Given the description of an element on the screen output the (x, y) to click on. 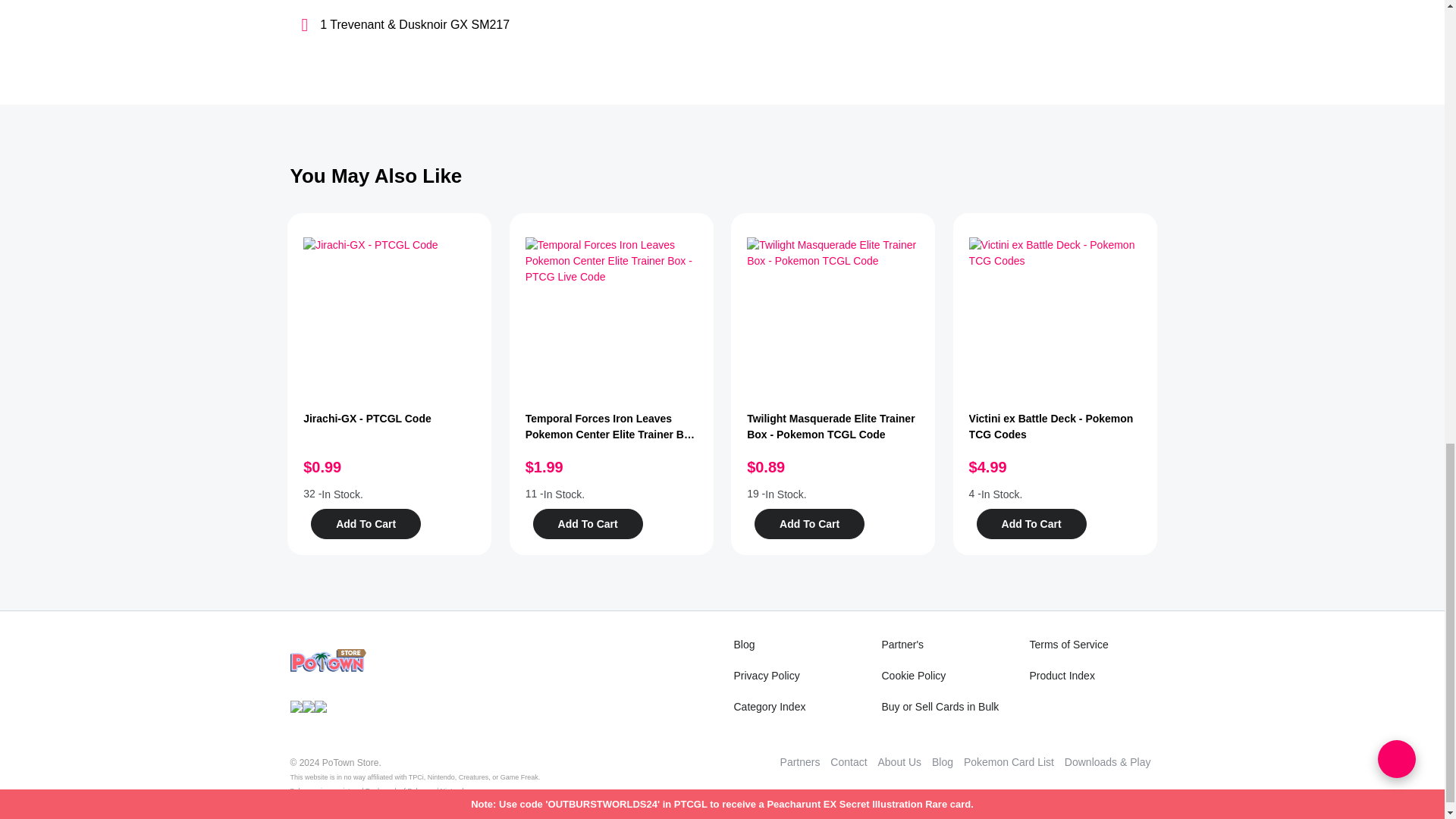
Like Us on Facebook (295, 705)
Follow Us on Twitter (307, 705)
Follow Us on Instagram (320, 705)
